Given the description of an element on the screen output the (x, y) to click on. 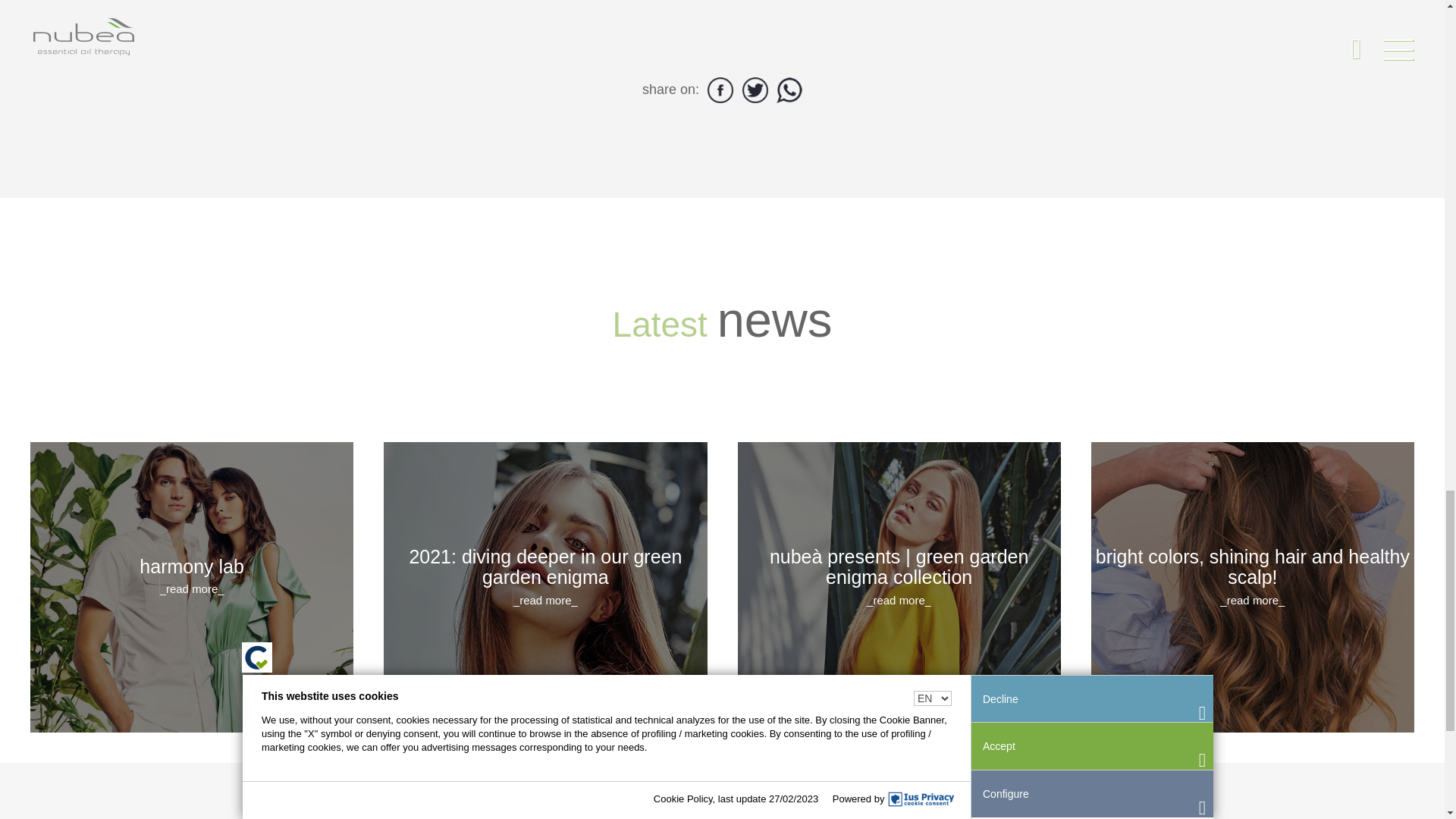
Bright colors, shining hair and healthy scalp! (1251, 587)
2021: diving deeper in our green garden enigma (545, 587)
subscribe to the newsletter (361, 790)
